Given the description of an element on the screen output the (x, y) to click on. 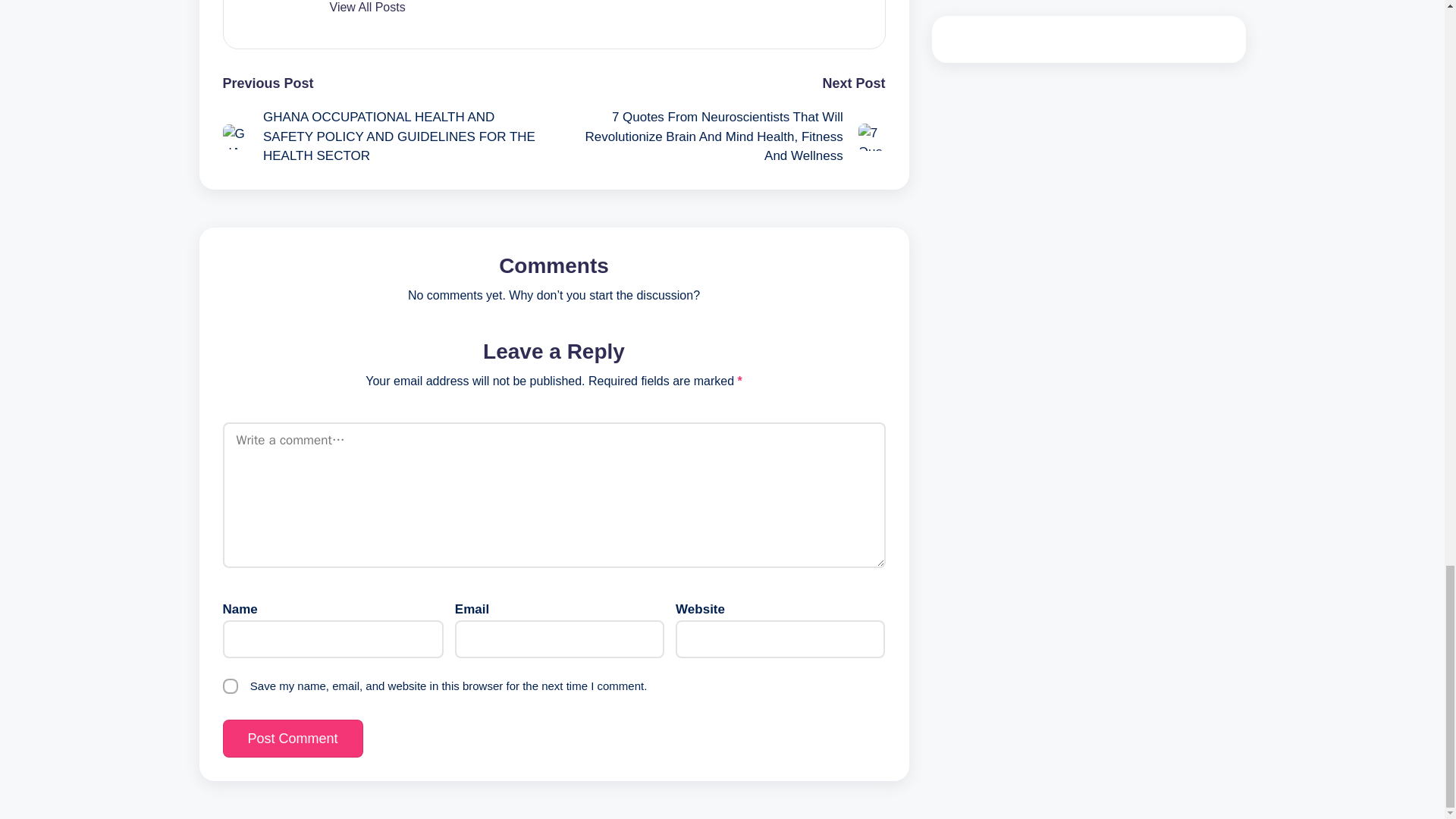
yes (230, 685)
Post Comment (292, 738)
